Given the description of an element on the screen output the (x, y) to click on. 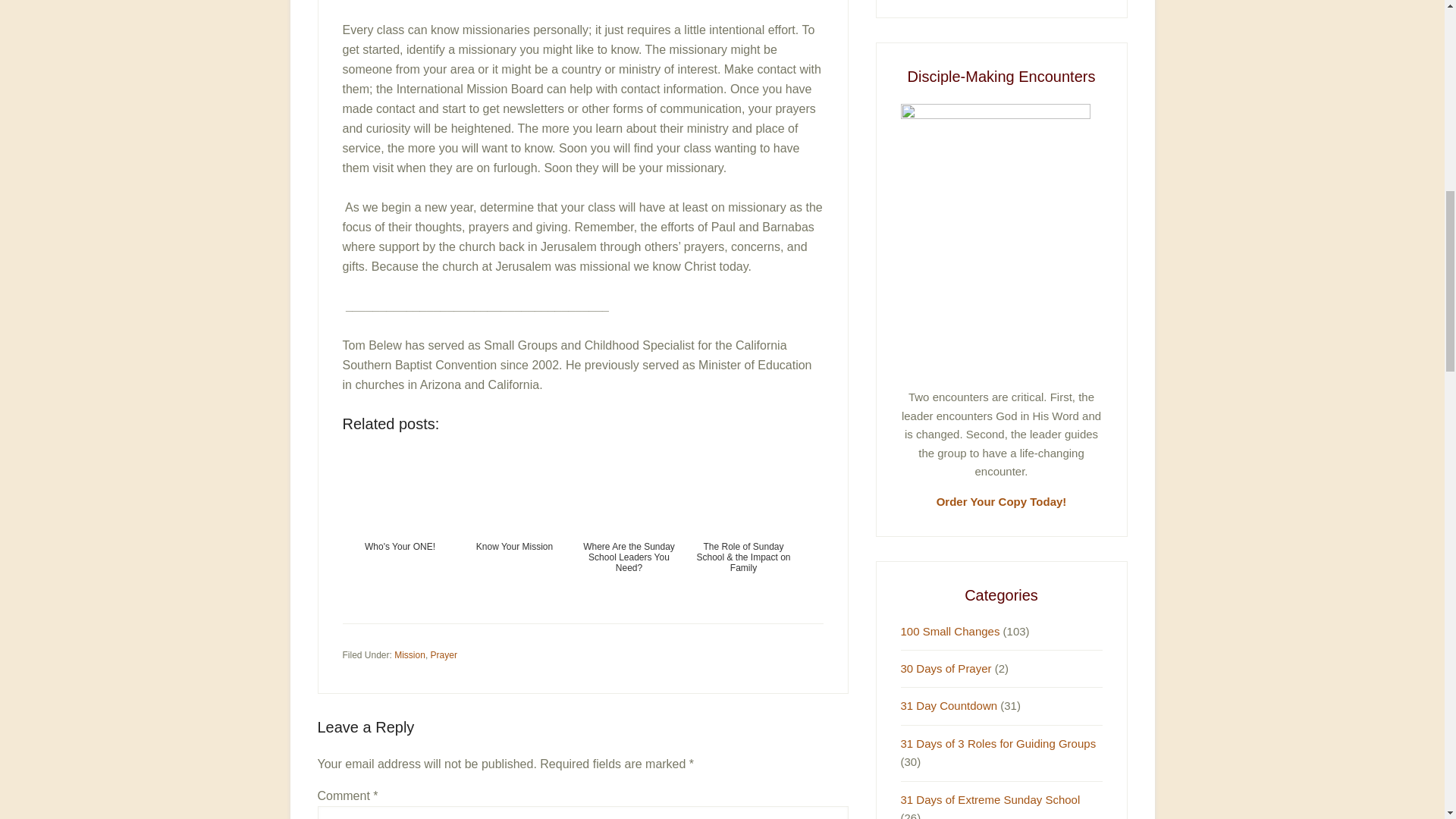
Mission (409, 654)
Order Your Copy Today! (1001, 501)
31 Day Countdown (949, 705)
Prayer (443, 654)
30 Days of Prayer (946, 667)
31 Days of Extreme Sunday School (990, 799)
31 Days of 3 Roles for Guiding Groups (998, 743)
100 Small Changes (950, 631)
